Given the description of an element on the screen output the (x, y) to click on. 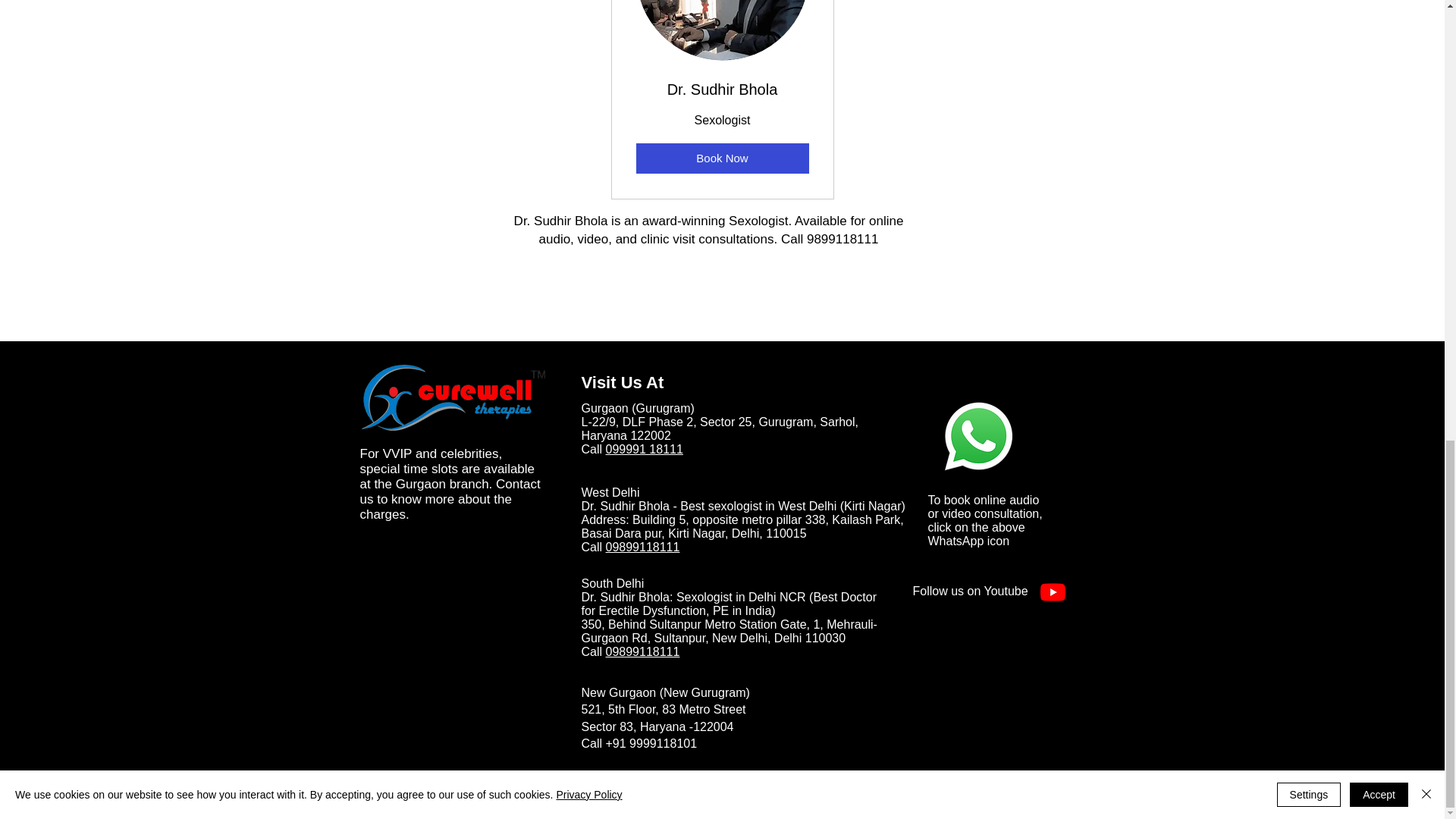
About Us (900, 778)
09899118111 (642, 546)
09899118111 (642, 651)
Privacy Policy (394, 778)
Dr. Sudhir Bhola online consultation (978, 435)
099991 18111 (643, 449)
Curewell Therapies (451, 398)
Contact Us (1047, 778)
Book Now (721, 158)
Terms and Conditions (754, 777)
